Given the description of an element on the screen output the (x, y) to click on. 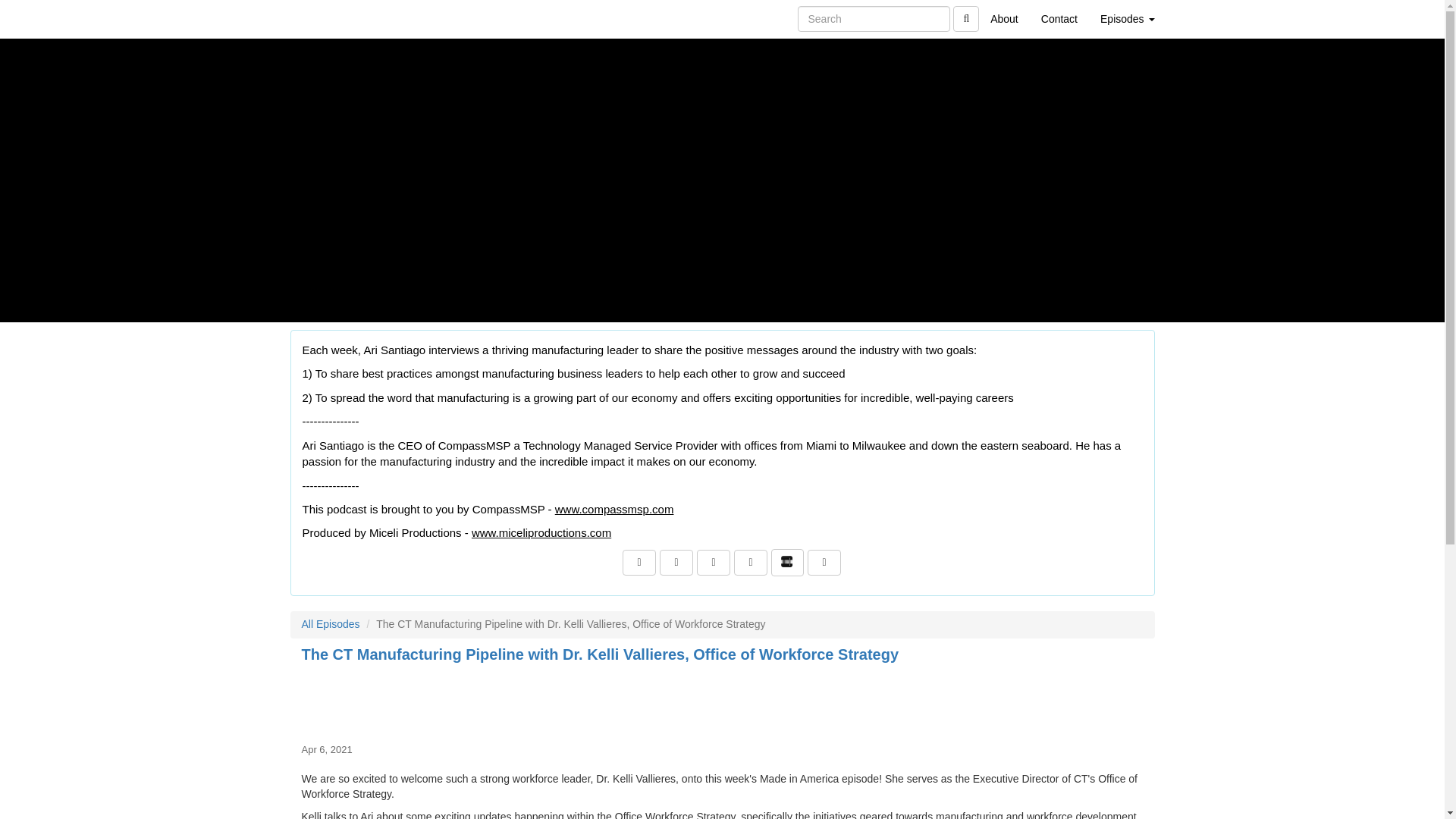
Go To YouTube Channel (824, 562)
Listen on Stitcher (787, 562)
About (1003, 18)
Subscribe to RSS Feed (713, 562)
Episodes (1127, 18)
Contact (1059, 18)
View Our LinkedIn Page (676, 562)
Listen on Apple Podcasts (750, 562)
Home Page (320, 18)
